Given the description of an element on the screen output the (x, y) to click on. 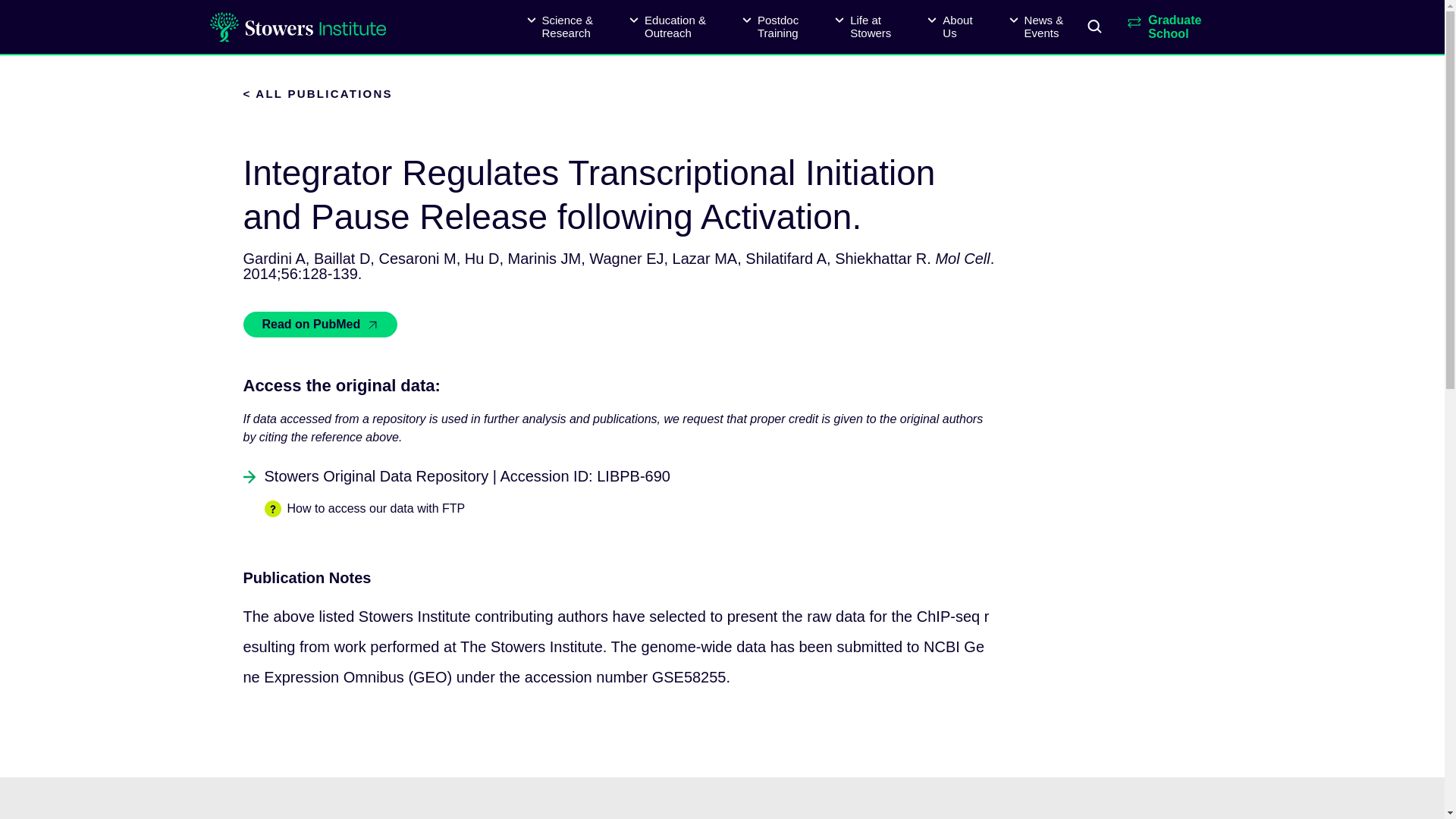
How to access our data with FTP (949, 27)
Read on PubMed (769, 27)
